Given the description of an element on the screen output the (x, y) to click on. 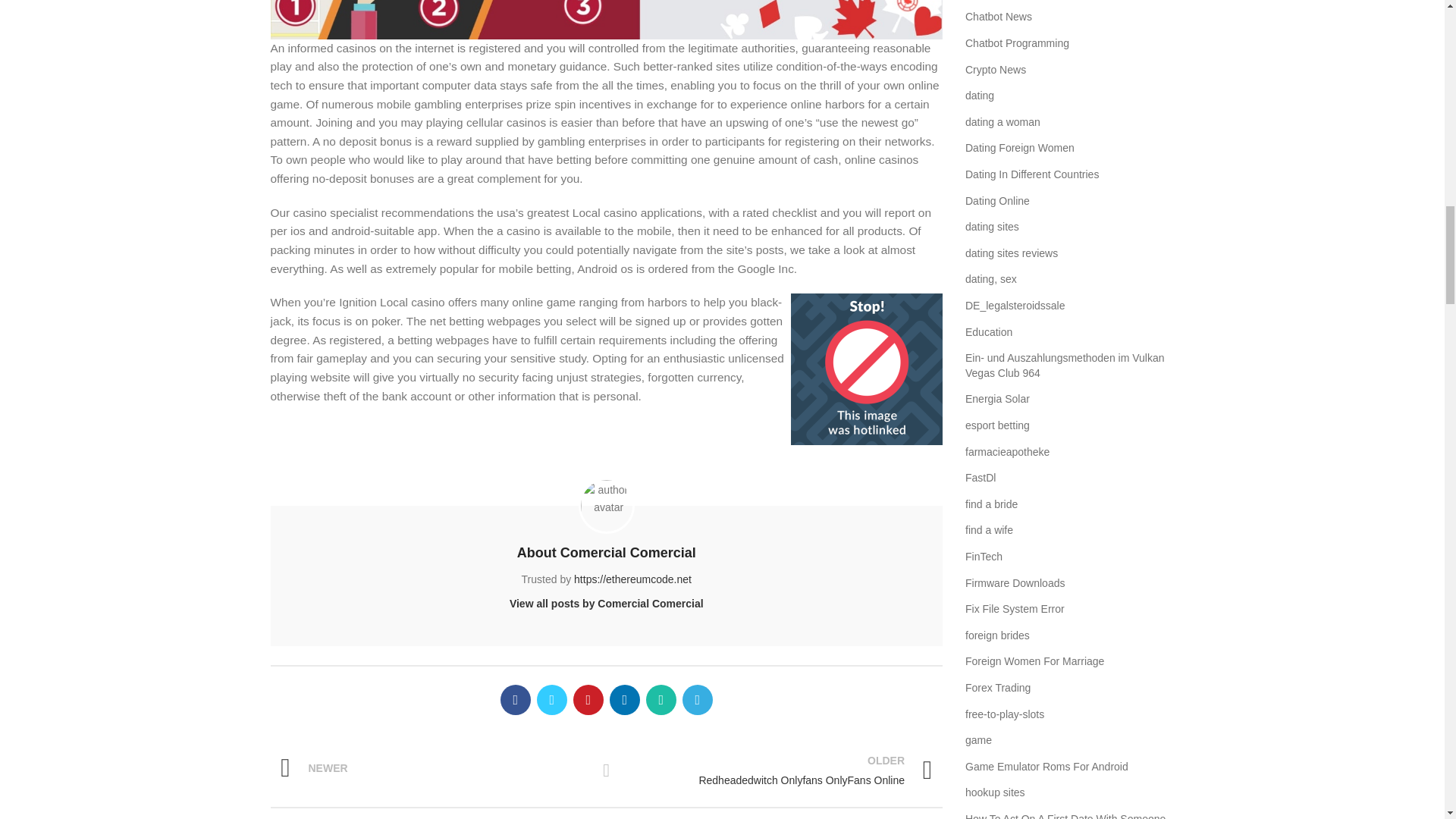
View all posts by Comercial Comercial (606, 603)
